Given the description of an element on the screen output the (x, y) to click on. 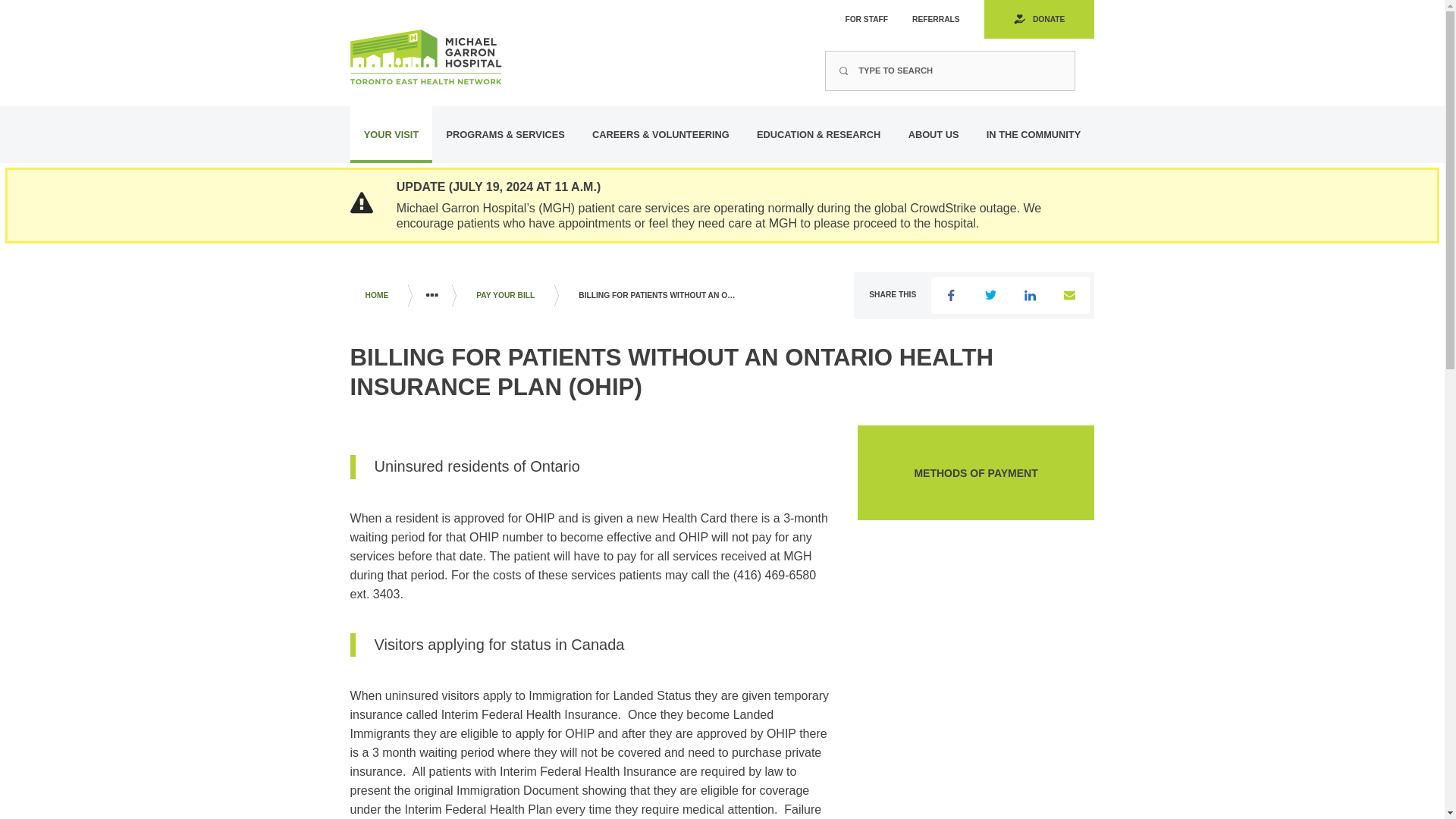
Share on LinkedIn (1029, 294)
Share on Facebook (951, 294)
Send as email (1069, 294)
Share on Twitter (990, 294)
